Given the description of an element on the screen output the (x, y) to click on. 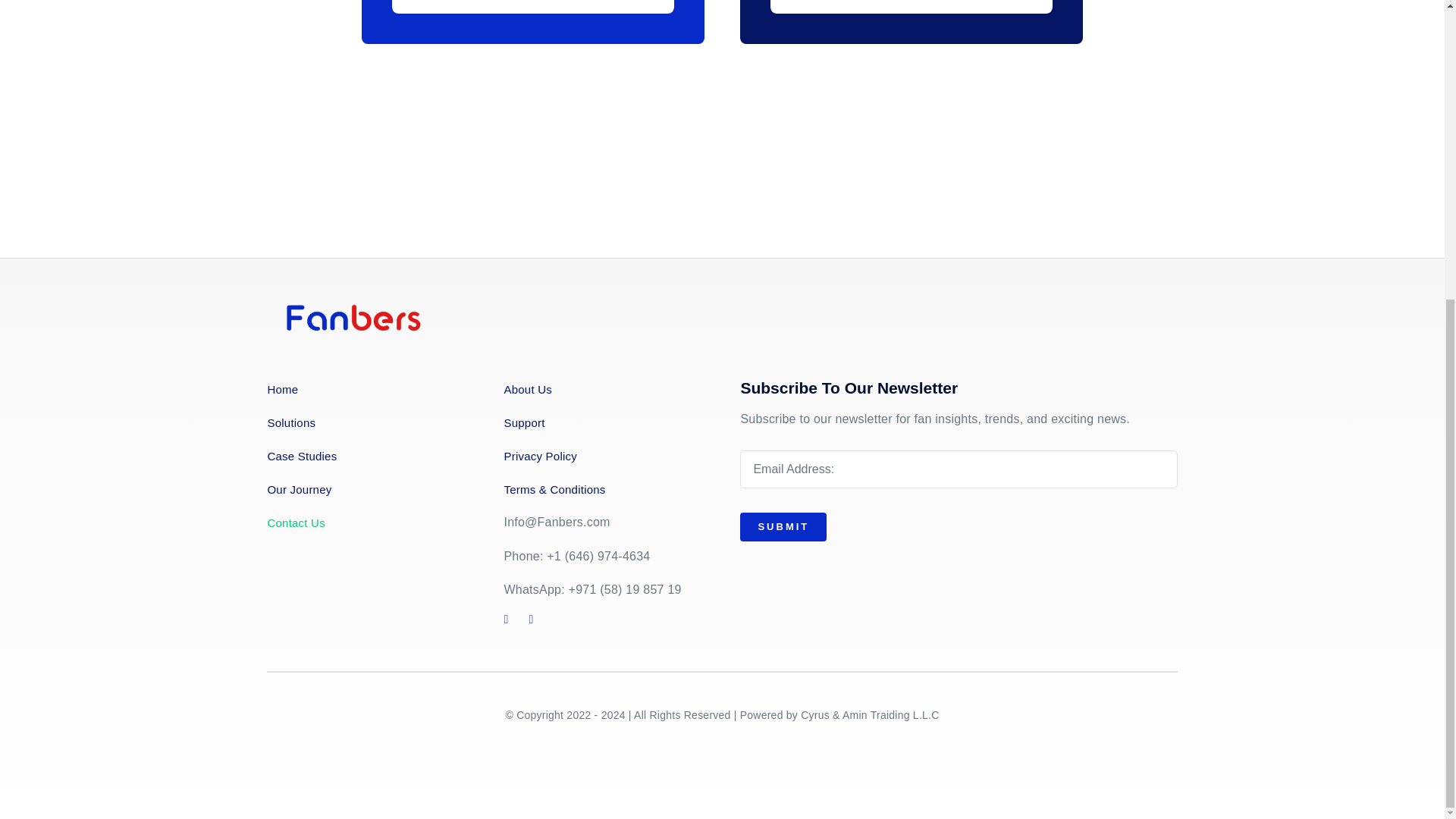
Solutions (366, 422)
Case Studies (366, 455)
SUBMIT (957, 503)
SUBMIT (783, 526)
Support (603, 422)
Contact Us (366, 522)
Our Journey (366, 489)
Privacy Policy (603, 455)
About Us (603, 389)
Home (366, 389)
